Given the description of an element on the screen output the (x, y) to click on. 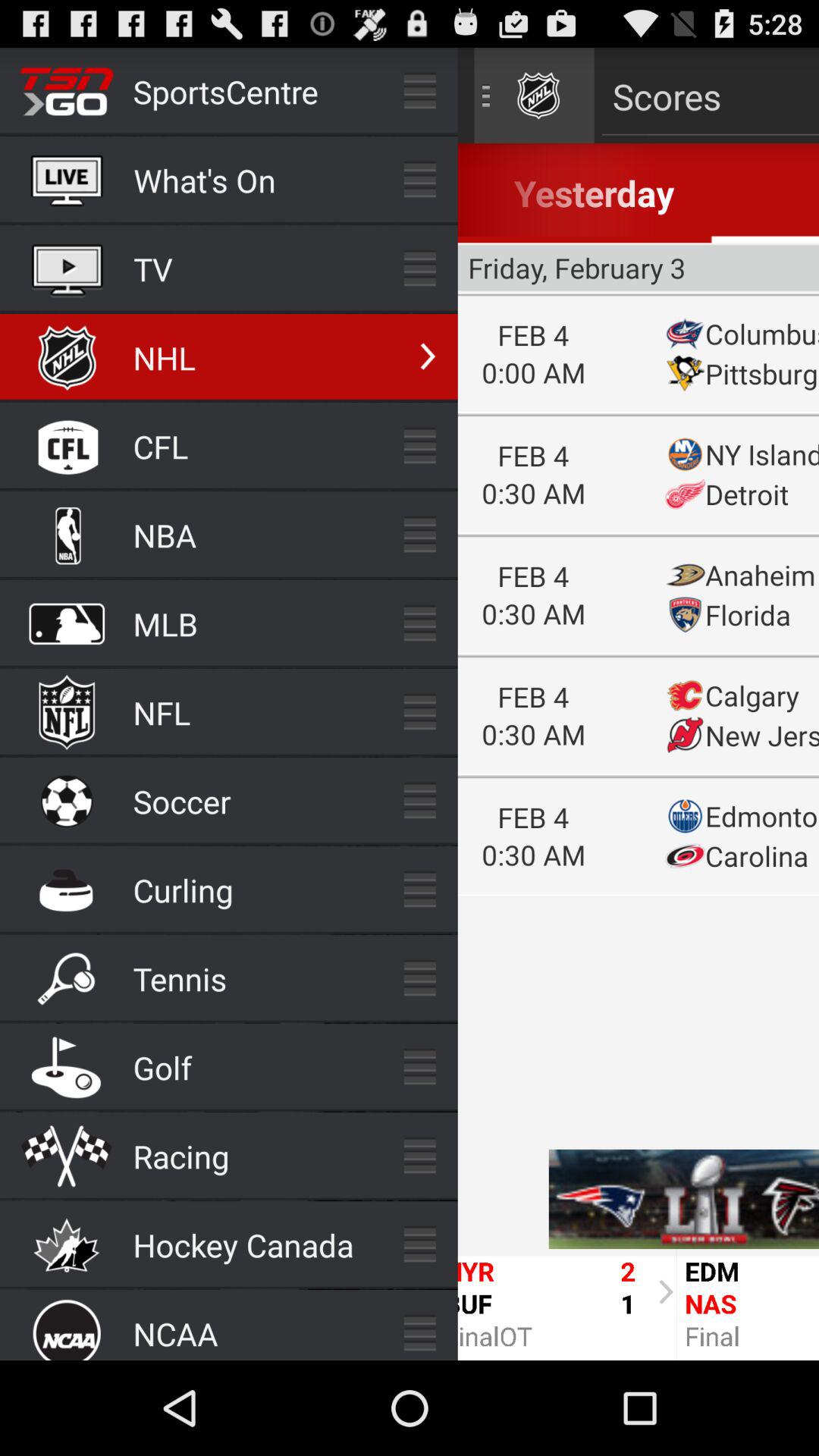
scores (638, 703)
